Given the description of an element on the screen output the (x, y) to click on. 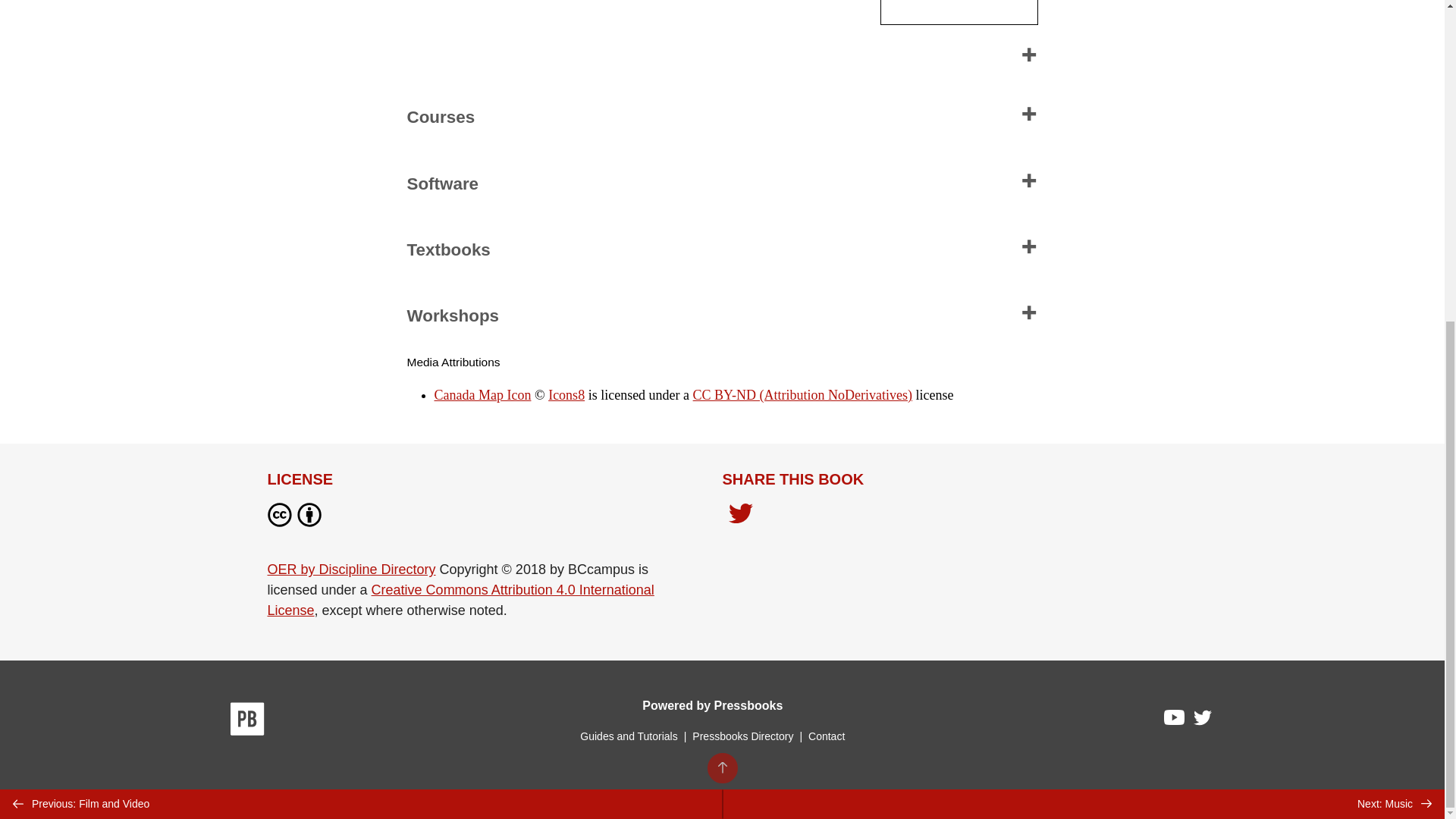
Creative Commons Attribution 4.0 International License (459, 600)
Courses (721, 117)
OER by Discipline Directory (350, 569)
Pressbooks on YouTube (1174, 721)
Pressbooks Directory (742, 736)
Previous: Film and Video (361, 282)
Icons8 (566, 394)
Canada Map Icon (482, 394)
Guides and Tutorials (627, 736)
Textbooks (721, 250)
